Given the description of an element on the screen output the (x, y) to click on. 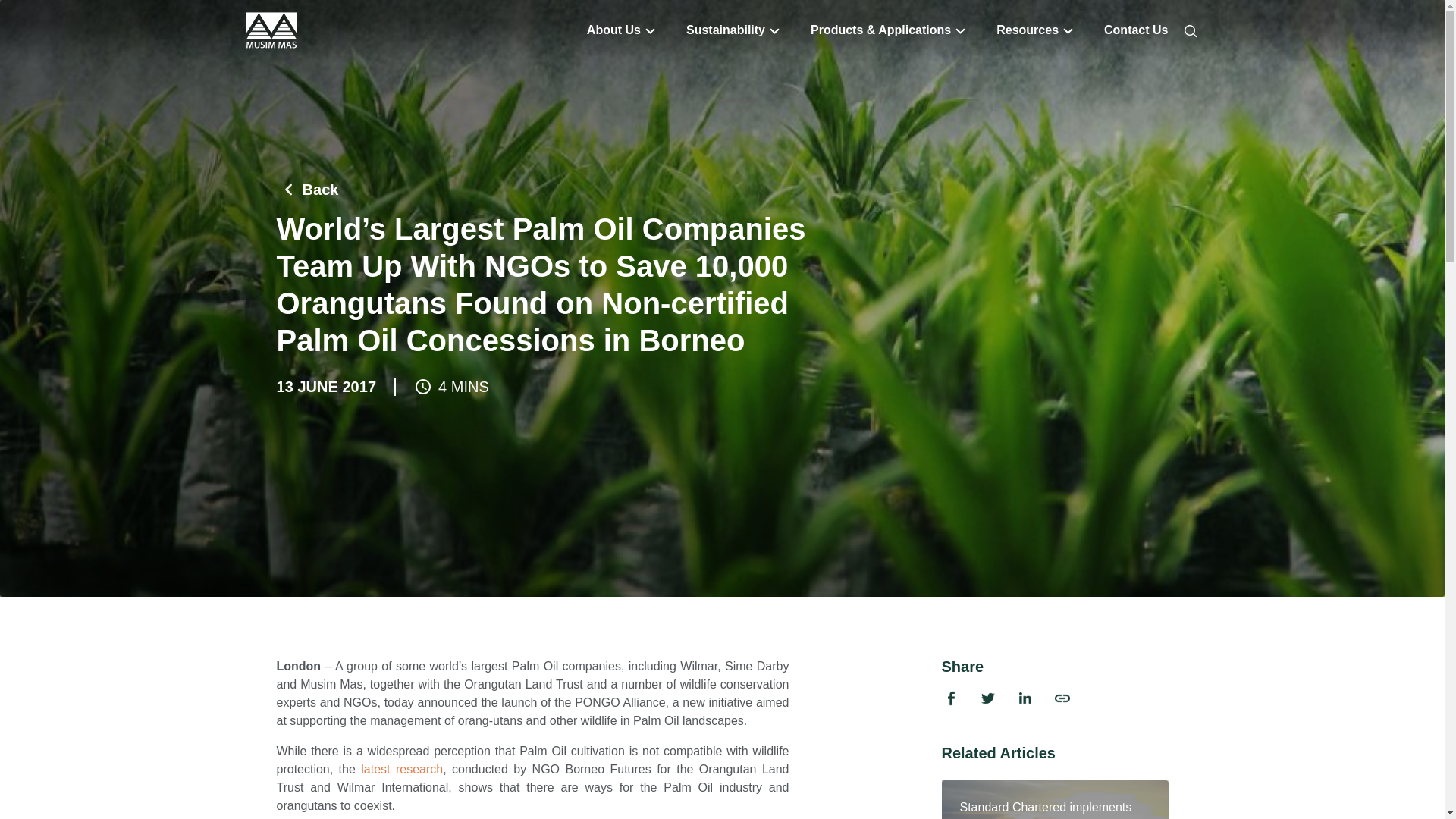
Sustainability (725, 30)
About Us (613, 30)
